Given the description of an element on the screen output the (x, y) to click on. 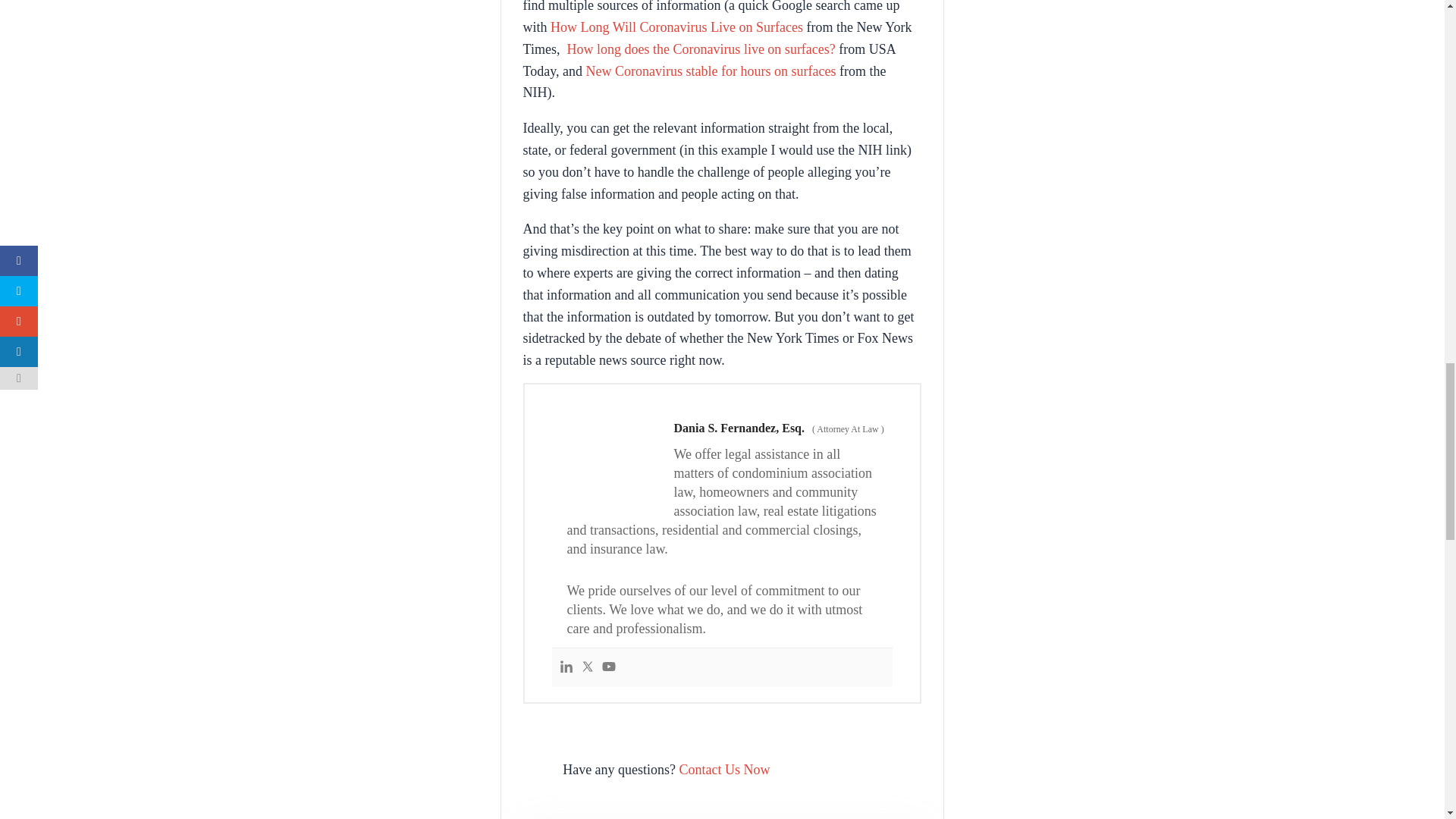
Contact Us Now (724, 769)
How long does the Coronavirus live on surfaces? (700, 48)
New Coronavirus stable for hours on surfaces (710, 70)
How Long Will Coronavirus Live on Surfaces (676, 27)
